Given the description of an element on the screen output the (x, y) to click on. 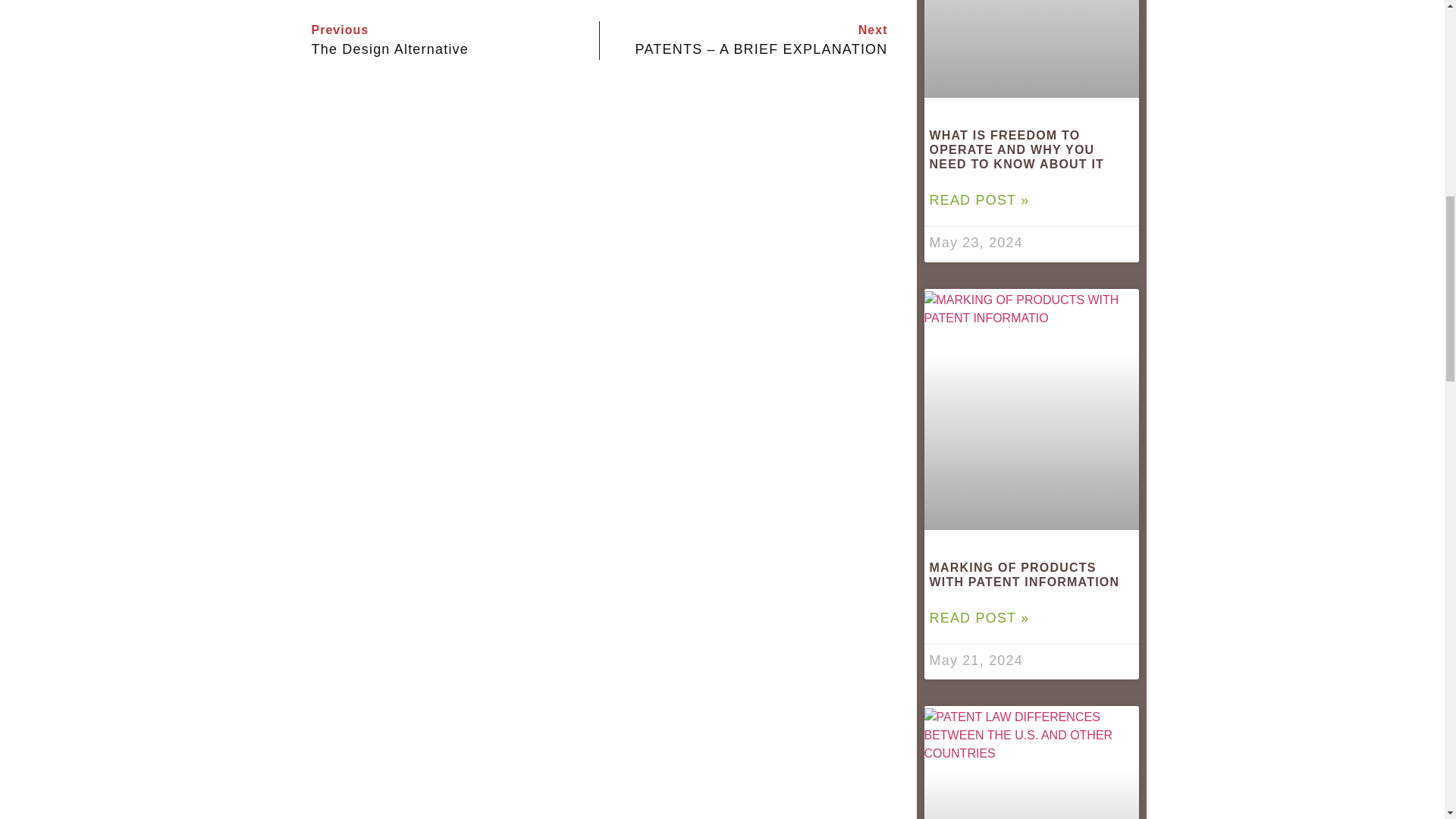
MARKING OF PRODUCTS WITH PATENT INFORMATION (1024, 574)
WHAT IS FREEDOM TO OPERATE AND WHY YOU NEED TO KNOW ABOUT IT (1017, 149)
